Given the description of an element on the screen output the (x, y) to click on. 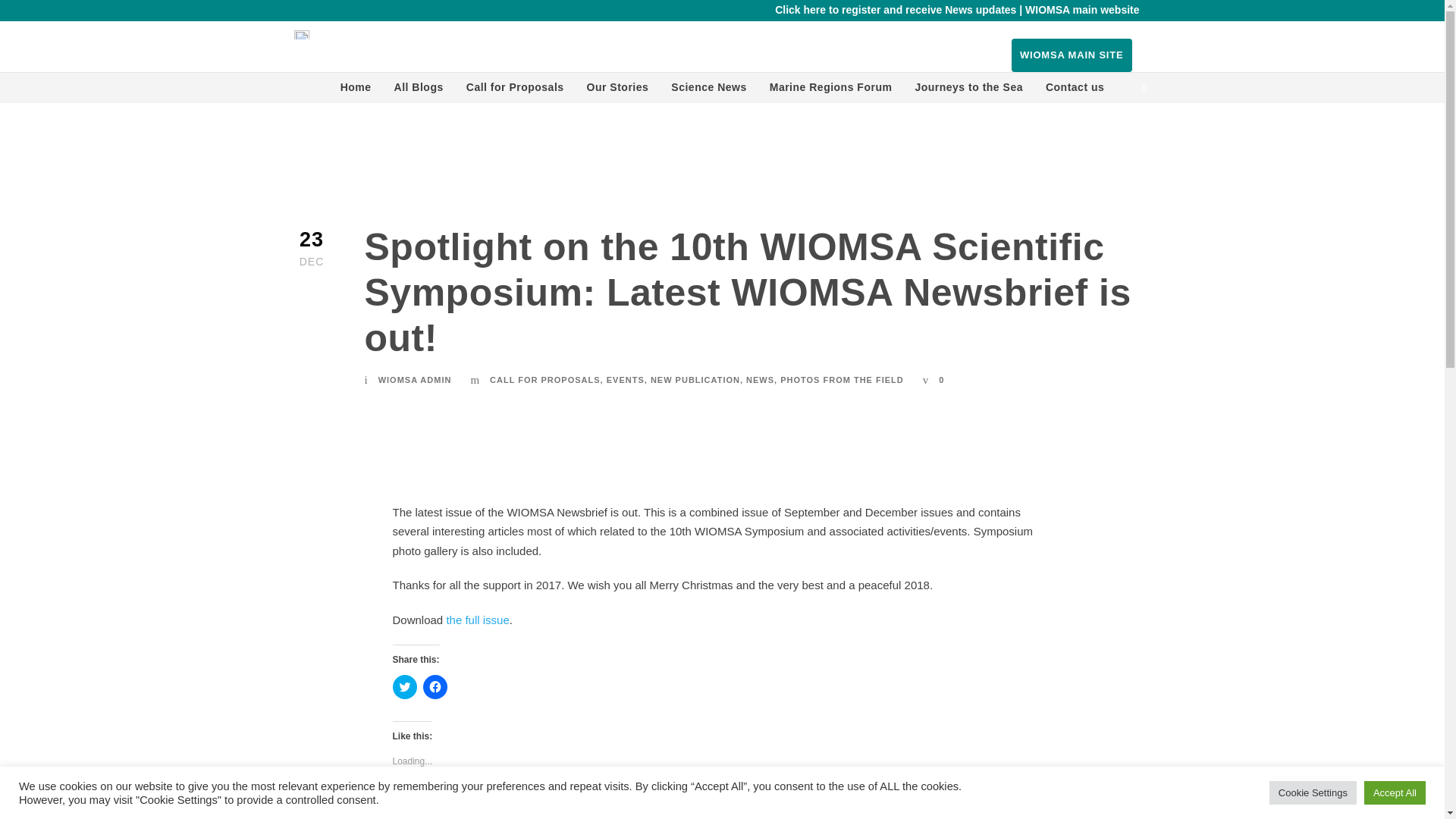
EVENTS (626, 379)
Click to share on Twitter (404, 686)
Our Stories (617, 90)
WIOMSA main website (1081, 9)
Marine Regions Forum (831, 90)
All Blogs (419, 90)
the full issue (476, 619)
Journeys to the Sea (968, 90)
Home (355, 90)
PHOTOS FROM THE FIELD (842, 379)
